Given the description of an element on the screen output the (x, y) to click on. 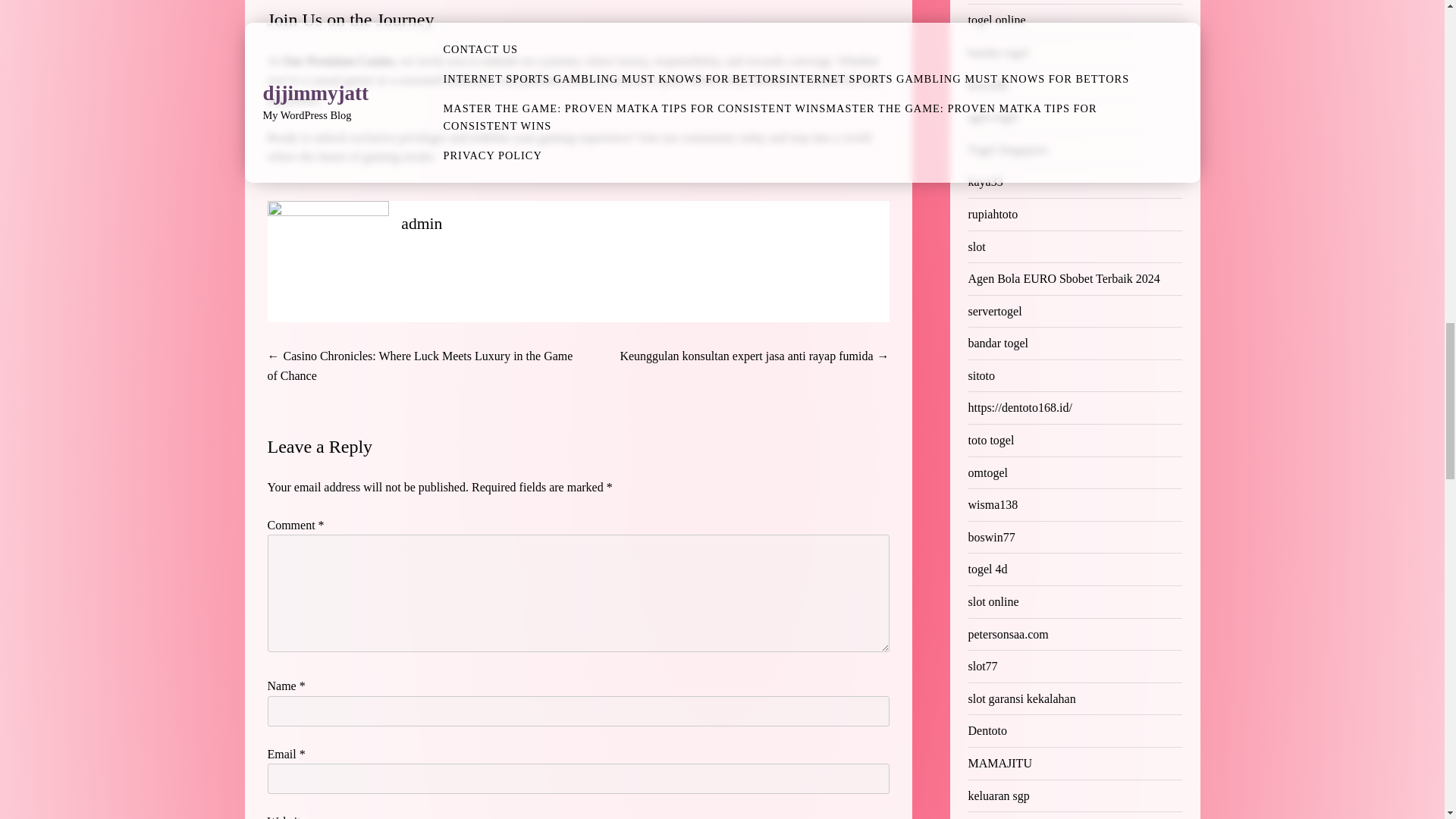
admin (421, 223)
Keunggulan konsultan expert jasa anti rayap fumida (746, 355)
